Given the description of an element on the screen output the (x, y) to click on. 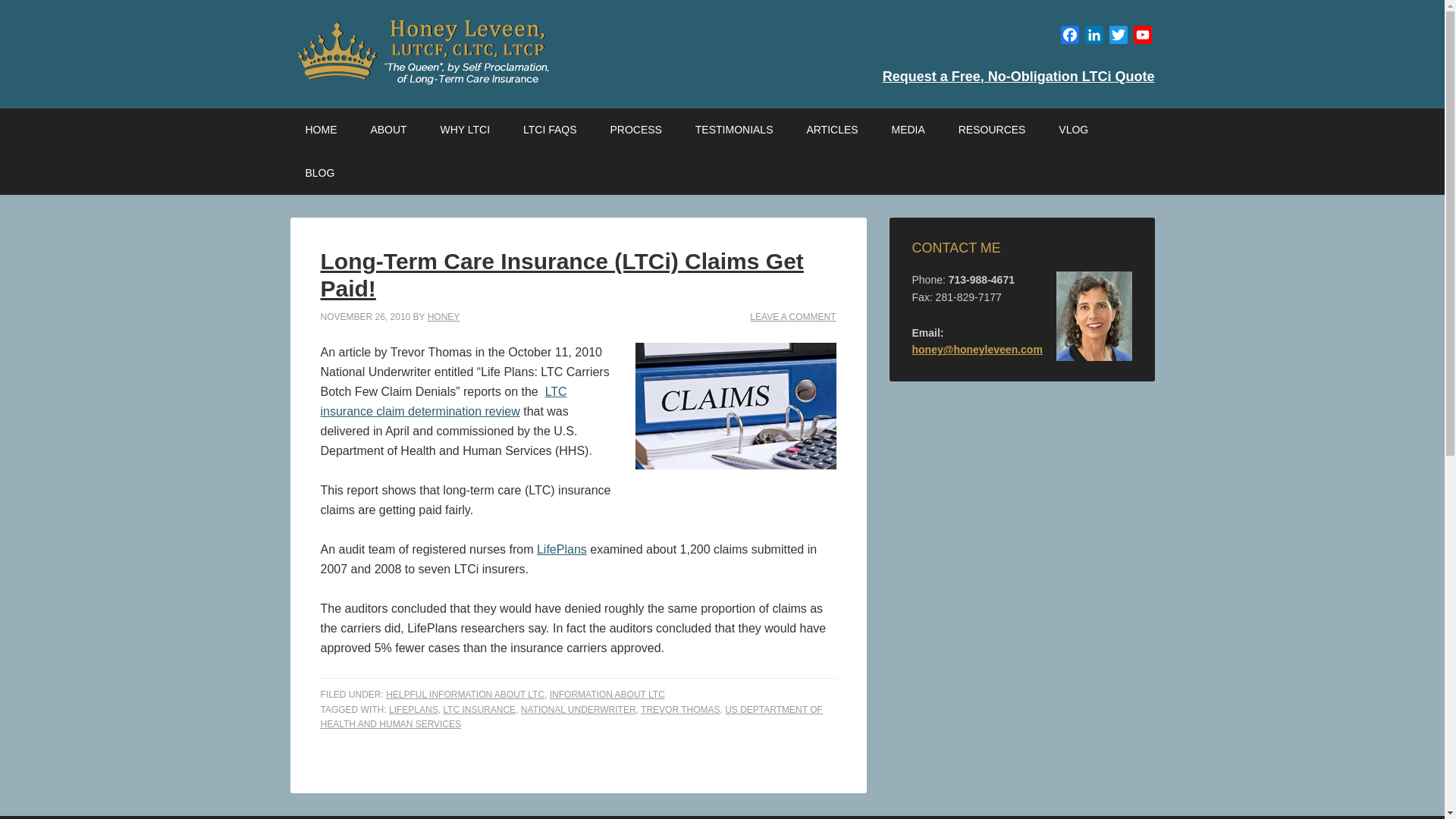
NATIONAL UNDERWRITER (578, 709)
INFORMATION ABOUT LTC (607, 694)
Facebook (1069, 37)
HELPFUL INFORMATION ABOUT LTC (464, 694)
Facebook (1069, 37)
WHY LTCI (465, 129)
ABOUT (388, 129)
LifePlans (561, 549)
LIFEPLANS (413, 709)
MEDIA (908, 129)
YouTube (1141, 37)
LinkedIn (1093, 37)
LTC insurance claim determination review (443, 400)
LinkedIn (1093, 37)
BLOG (319, 172)
